Given the description of an element on the screen output the (x, y) to click on. 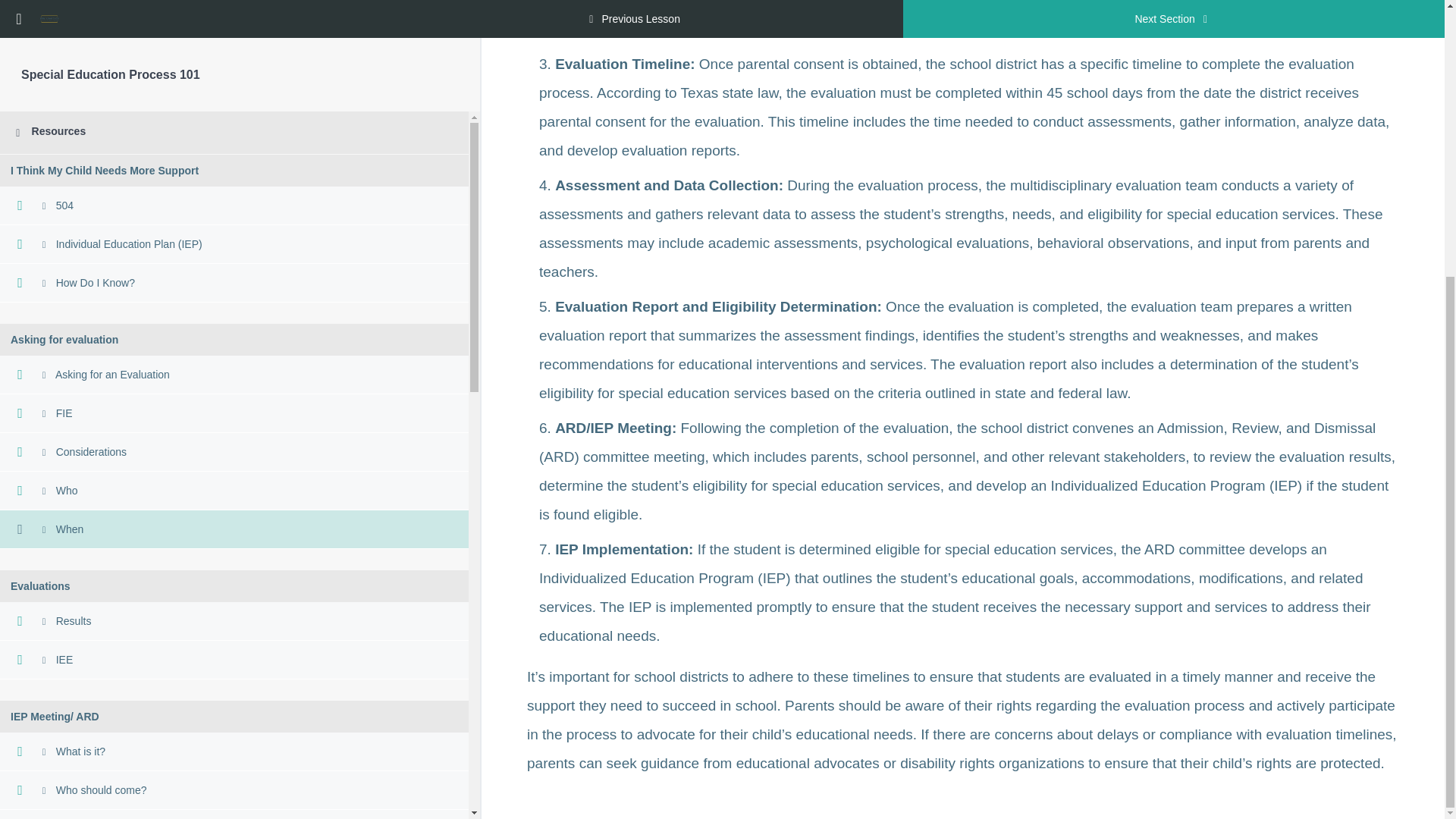
What is it? (234, 341)
13 categories (234, 549)
Who should come? (234, 380)
What happens? (234, 419)
How to Make Present Levels Strength Based (234, 680)
Results (234, 211)
When (234, 119)
Diagnosis vs Special Education Eligibility (234, 511)
Who (234, 81)
Considerations (234, 42)
Before a Change (234, 719)
FIE (234, 11)
IEE (234, 250)
What is included (234, 641)
